Given the description of an element on the screen output the (x, y) to click on. 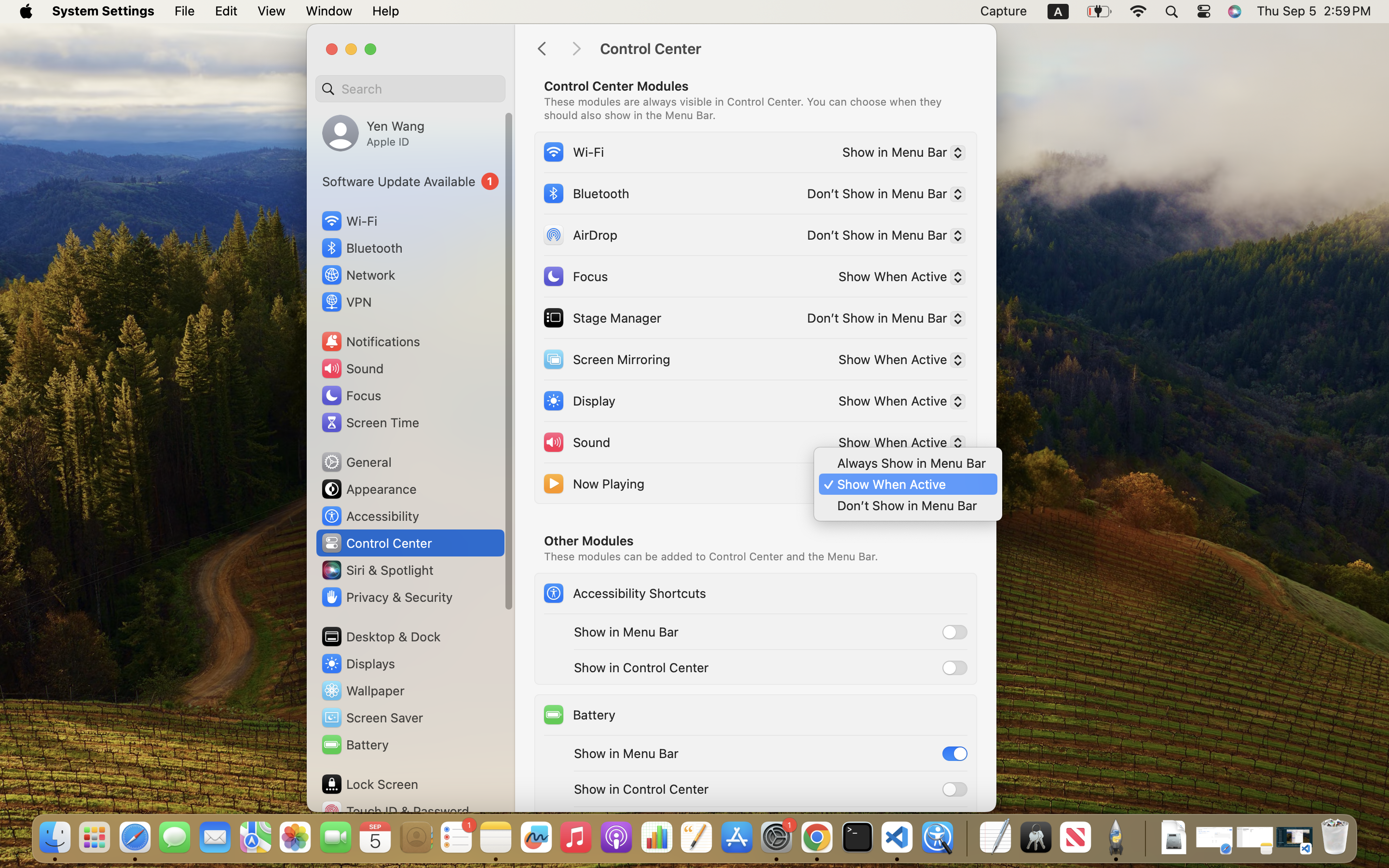
Lock Screen Element type: AXStaticText (369, 783)
Now Playing Element type: AXStaticText (593, 482)
Don’t Show in Menu Bar Element type: AXPopUpButton (881, 319)
Notifications Element type: AXStaticText (370, 340)
Touch ID & Password Element type: AXStaticText (394, 810)
